Given the description of an element on the screen output the (x, y) to click on. 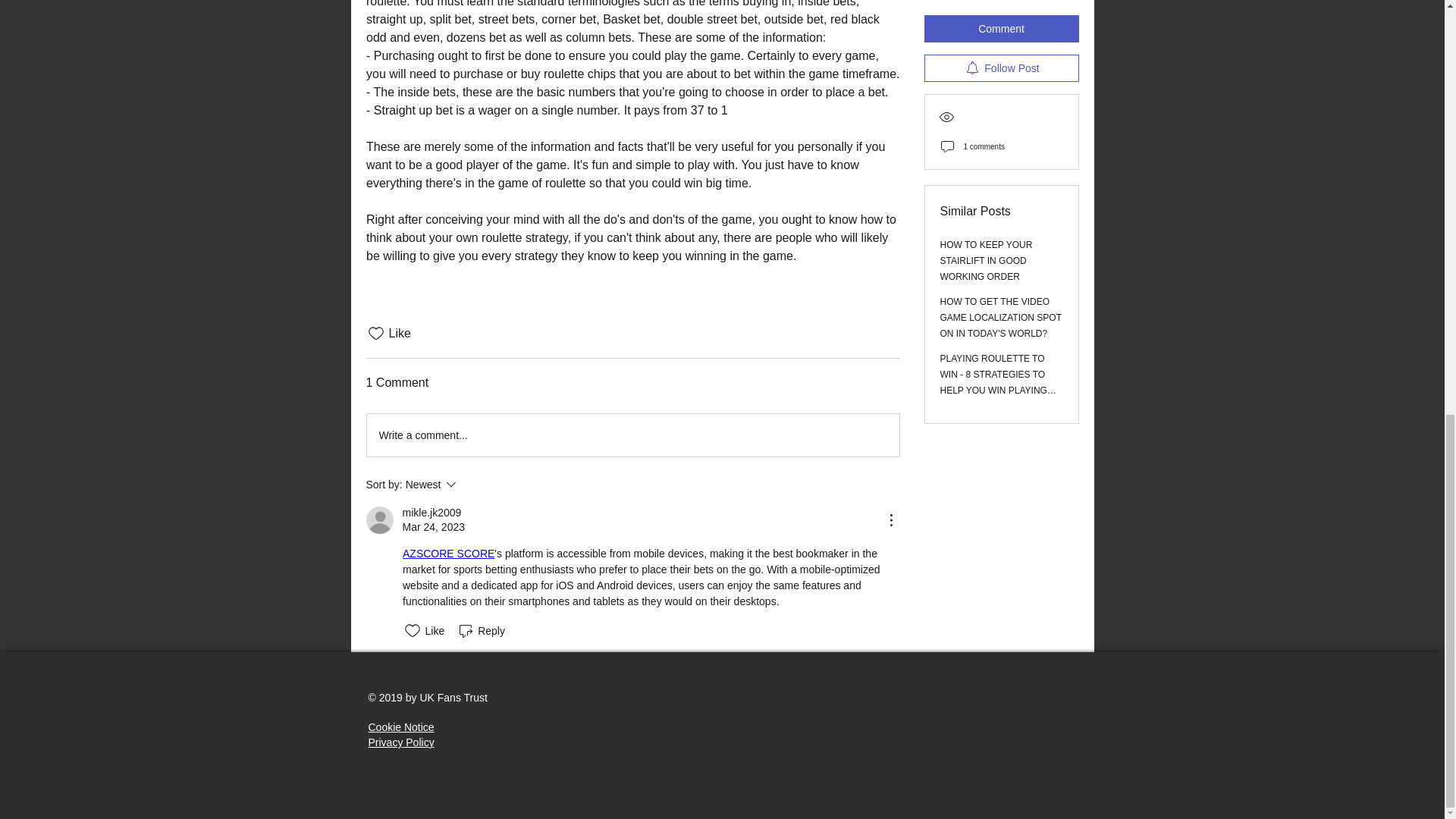
Reply (481, 630)
AZSCORE SCORE (471, 484)
mikle.jk2009 (447, 553)
Cookie Notice (431, 513)
Privacy Policy (400, 727)
Write a comment... (400, 742)
